Given the description of an element on the screen output the (x, y) to click on. 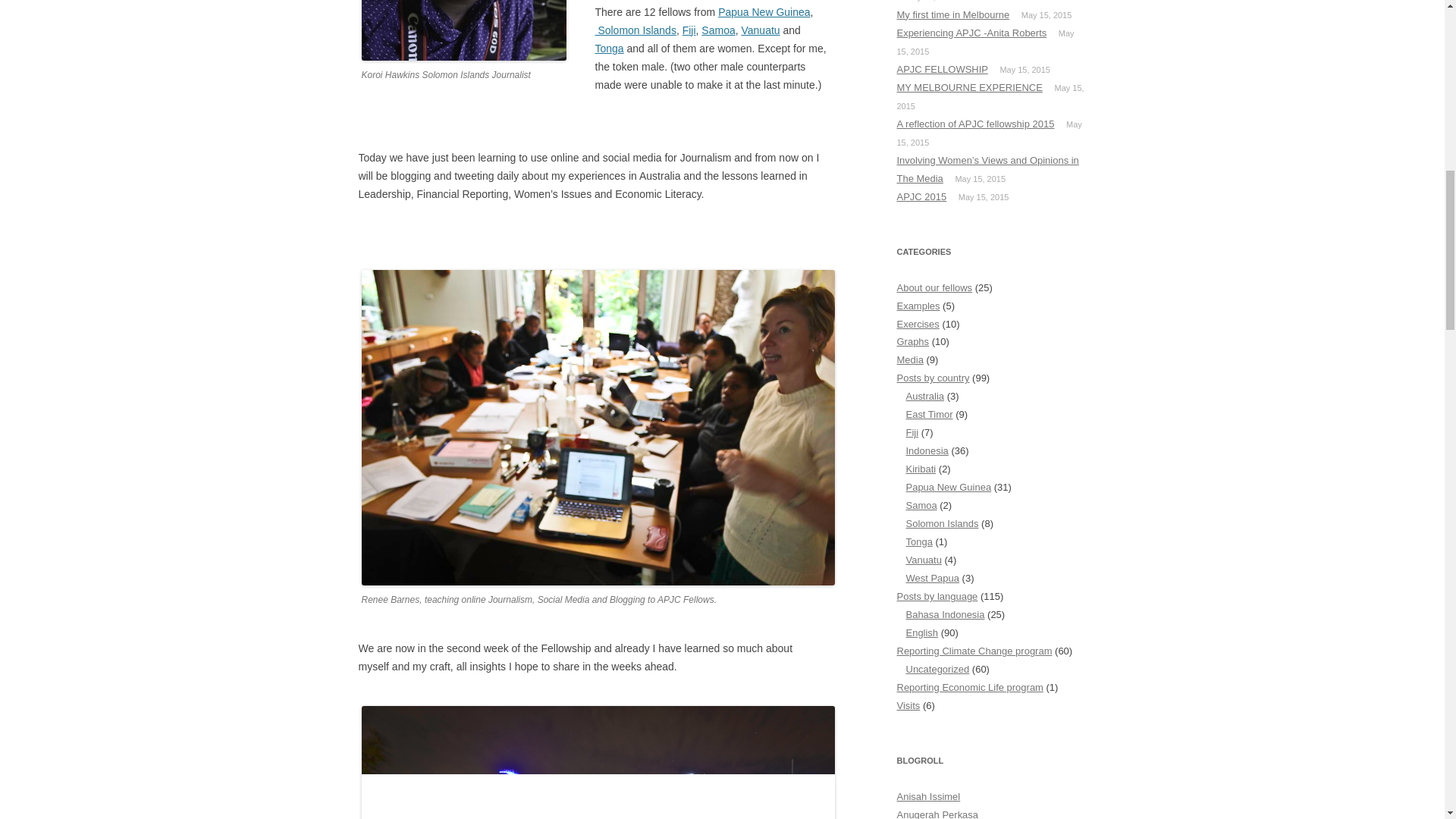
Fiji (688, 30)
 Solomon Islands (634, 30)
Samoa (718, 30)
Tonga (608, 48)
Papua New Guinea (763, 11)
Vanuatu Wikipedia (760, 30)
Samoa Wikipedia (718, 30)
Papua New Guinea Wikipedia (763, 11)
Vanuatu (760, 30)
Fiji Wikipedia (688, 30)
